Given the description of an element on the screen output the (x, y) to click on. 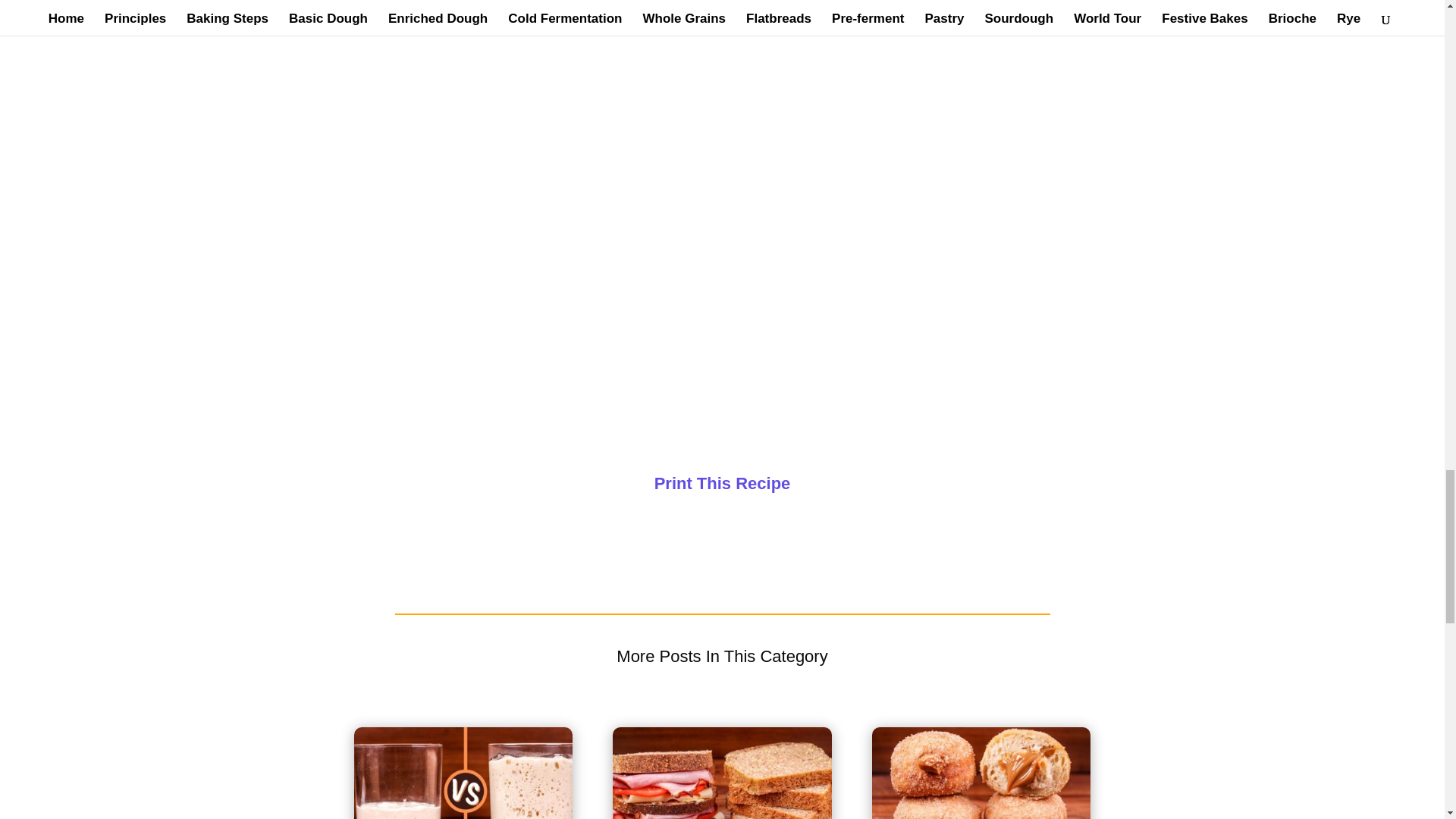
Print This Recipe (721, 483)
